Given the description of an element on the screen output the (x, y) to click on. 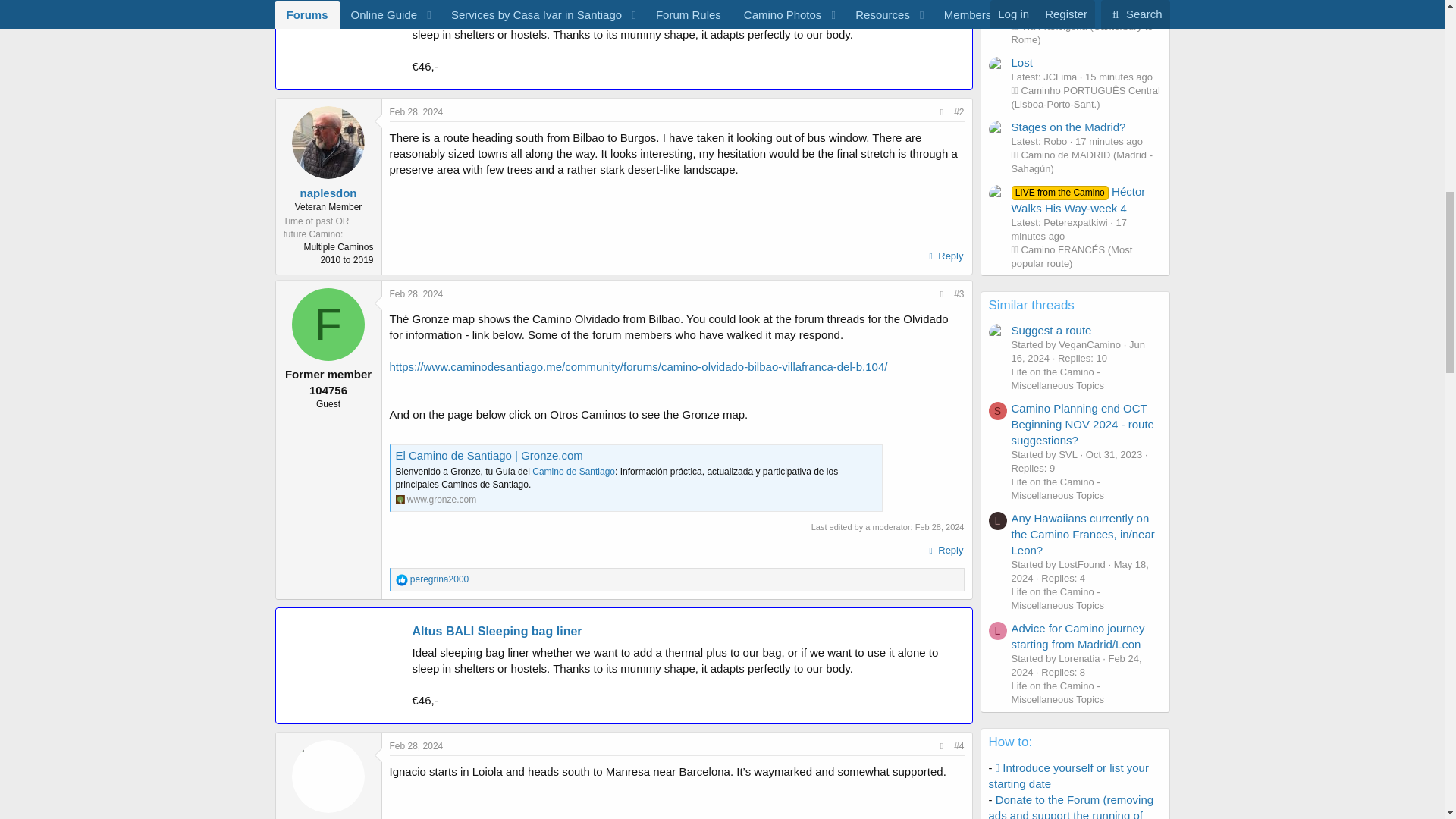
Reply, quoting this message (944, 550)
Former member 104756 (328, 324)
Feb 28, 2024 at 6:38 PM (417, 746)
Reply, quoting this message (944, 256)
Like (401, 580)
Feb 28, 2024 at 5:54 PM (417, 112)
Feb 28, 2024 at 6:38 PM (939, 526)
Feb 28, 2024 at 6:32 PM (417, 294)
